Given the description of an element on the screen output the (x, y) to click on. 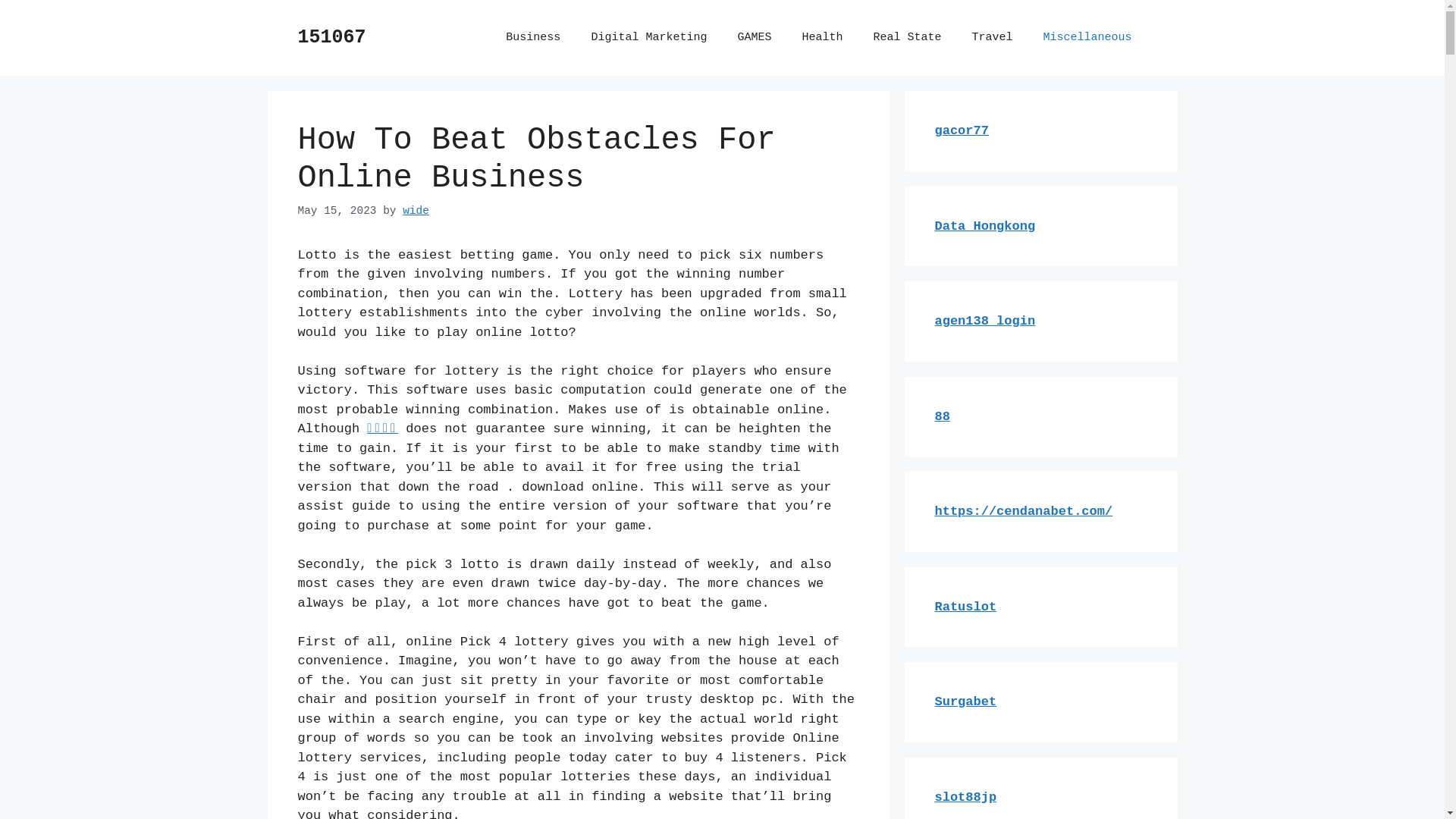
Digital Marketing Element type: text (648, 37)
Business Element type: text (532, 37)
Miscellaneous Element type: text (1086, 37)
https://cendanabet.com/ Element type: text (1023, 511)
Ratuslot Element type: text (965, 606)
Travel Element type: text (991, 37)
gacor77 Element type: text (961, 130)
151067 Element type: text (331, 37)
slot88jp Element type: text (965, 797)
wide Element type: text (415, 210)
agen138 login Element type: text (984, 320)
Real State Element type: text (906, 37)
Surgabet Element type: text (965, 701)
Data Hongkong Element type: text (984, 225)
GAMES Element type: text (753, 37)
Health Element type: text (821, 37)
88 Element type: text (941, 416)
